Given the description of an element on the screen output the (x, y) to click on. 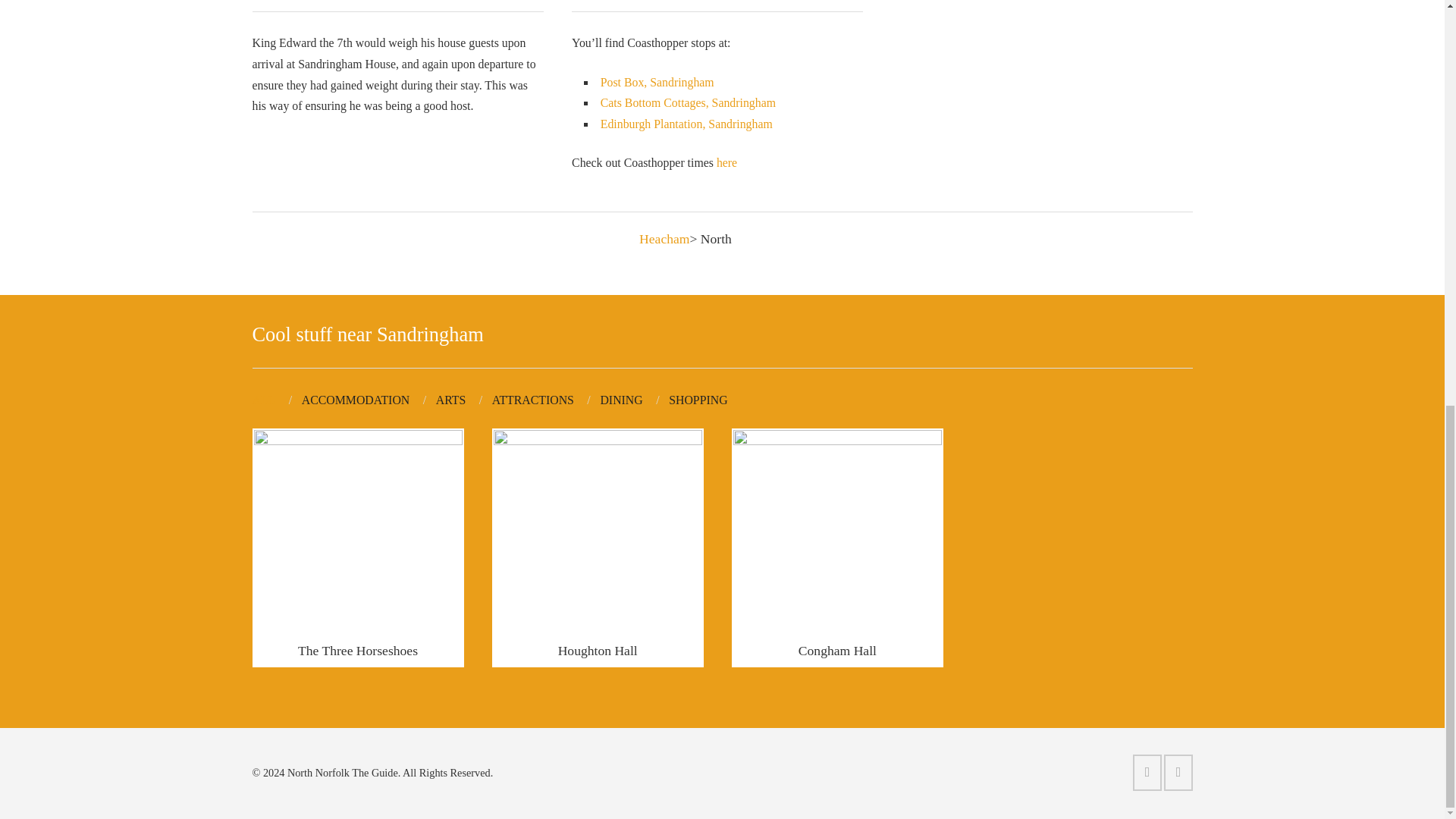
ACCOMMODATION (368, 399)
Heacham (663, 238)
here (726, 162)
SHOPPING (697, 399)
ARTS (463, 399)
Heacham (663, 238)
Edinburgh Plantation, Sandringham (686, 123)
ATTRACTIONS (545, 399)
DINING (633, 399)
Post Box, Sandringham (656, 82)
ALL (276, 399)
Cats Bottom Cottages, Sandringham (687, 102)
